Given the description of an element on the screen output the (x, y) to click on. 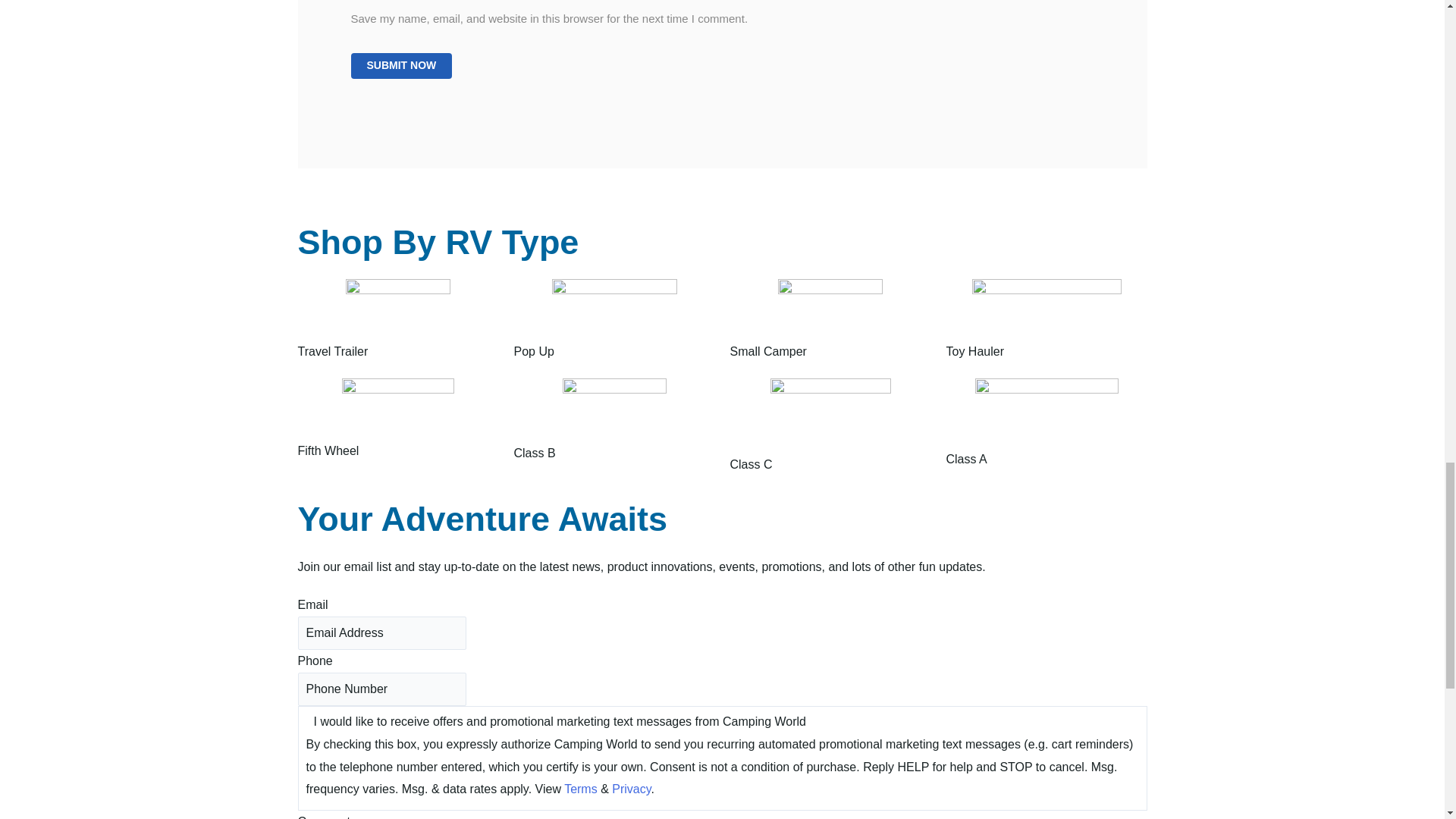
Submit Now (400, 65)
